Given the description of an element on the screen output the (x, y) to click on. 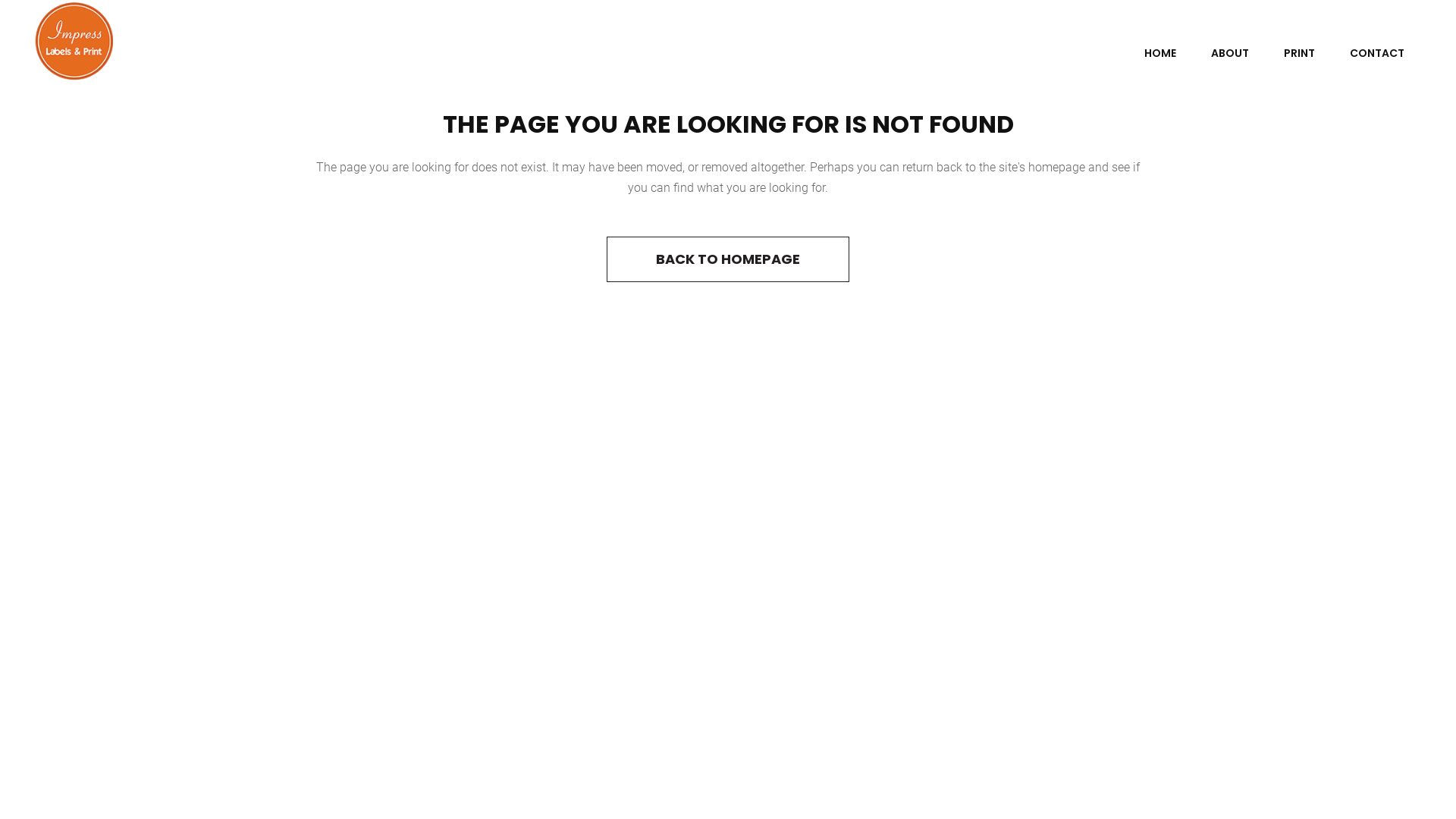
PRINT Element type: text (1299, 53)
HOME Element type: text (1159, 53)
CONTACT Element type: text (1376, 53)
ABOUT Element type: text (1229, 53)
BACK TO HOMEPAGE Element type: text (727, 259)
